Given the description of an element on the screen output the (x, y) to click on. 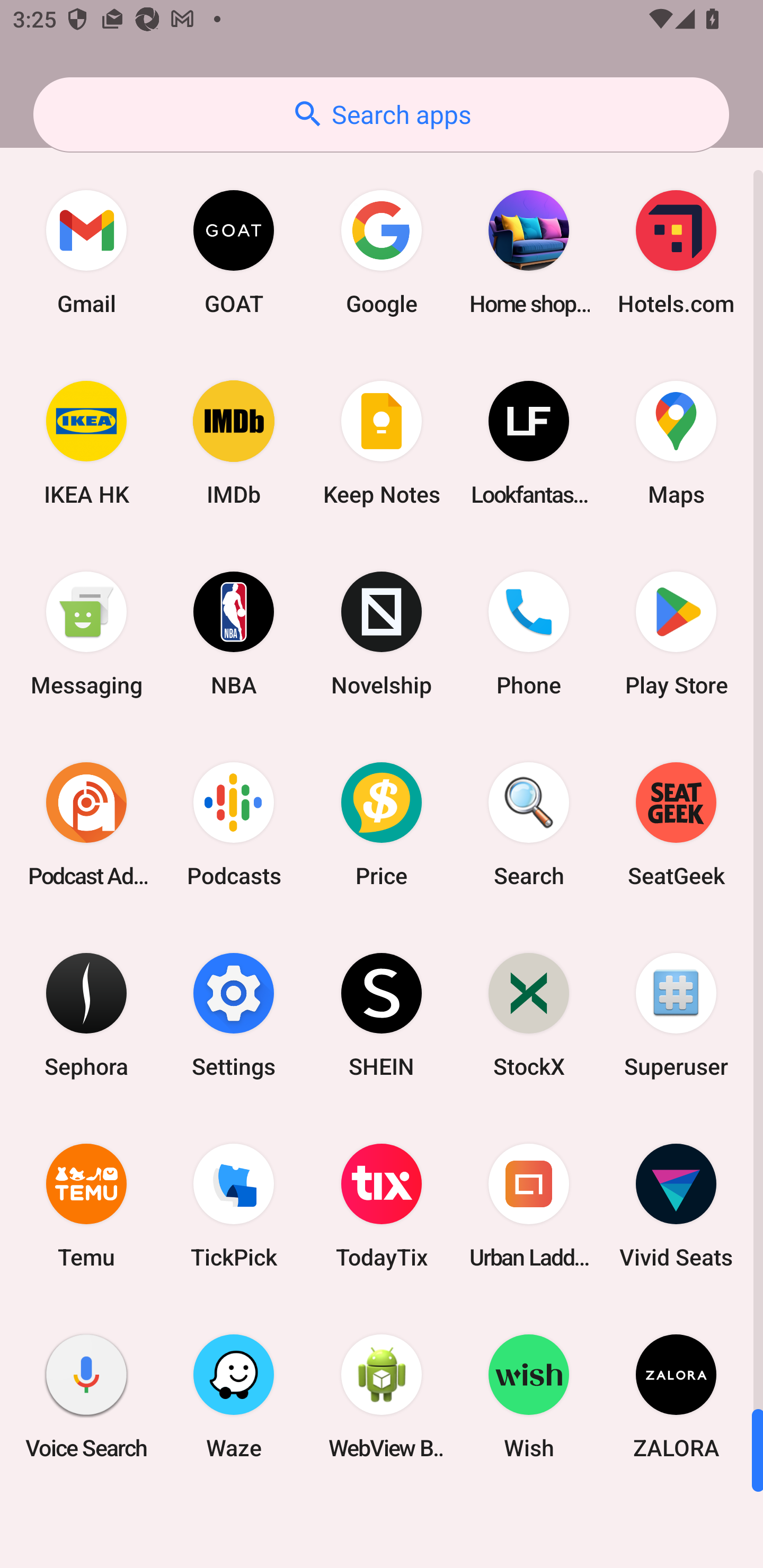
  Search apps (381, 114)
Gmail (86, 252)
GOAT (233, 252)
Google (381, 252)
Home shopping (528, 252)
Hotels.com (676, 252)
IKEA HK (86, 442)
IMDb (233, 442)
Keep Notes (381, 442)
Lookfantastic (528, 442)
Maps (676, 442)
Messaging (86, 633)
NBA (233, 633)
Novelship (381, 633)
Phone (528, 633)
Play Store (676, 633)
Podcast Addict (86, 823)
Podcasts (233, 823)
Price (381, 823)
Search (528, 823)
SeatGeek (676, 823)
Sephora (86, 1014)
Settings (233, 1014)
SHEIN (381, 1014)
StockX (528, 1014)
Superuser (676, 1014)
Temu (86, 1205)
TickPick (233, 1205)
TodayTix (381, 1205)
Urban Ladder (528, 1205)
Vivid Seats (676, 1205)
Voice Search (86, 1396)
Waze (233, 1396)
WebView Browser Tester (381, 1396)
Wish (528, 1396)
ZALORA (676, 1396)
